Given the description of an element on the screen output the (x, y) to click on. 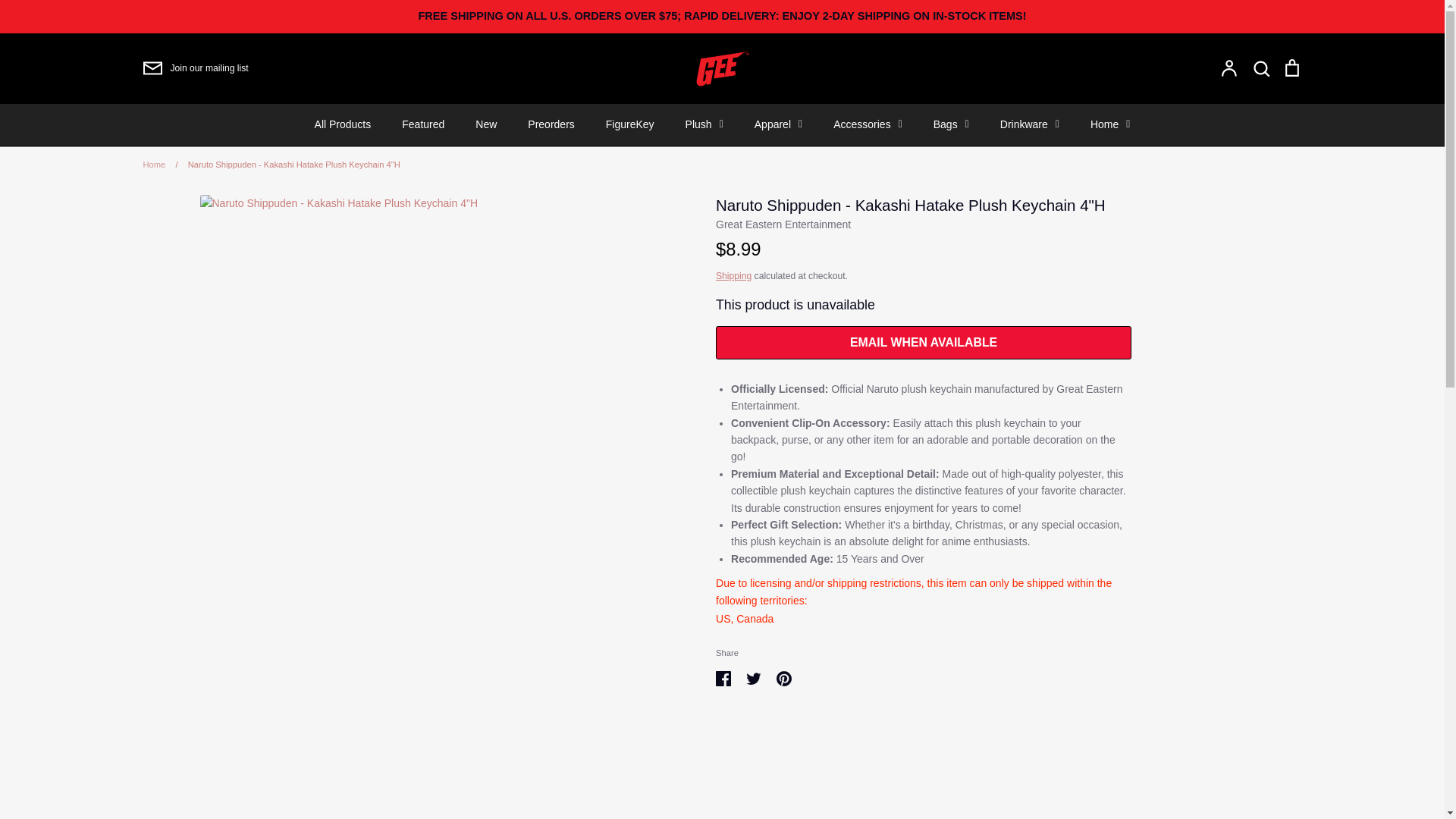
All Products (343, 124)
New (486, 124)
FigureKey (630, 124)
Join our mailing list (194, 67)
Apparel (777, 124)
FigureKey (630, 124)
Preorders (550, 124)
Preorders (550, 124)
Featured (423, 124)
Apparel (777, 124)
Plush (703, 124)
Featured (423, 124)
Plush (703, 124)
Account (1229, 67)
Search (1260, 67)
